Given the description of an element on the screen output the (x, y) to click on. 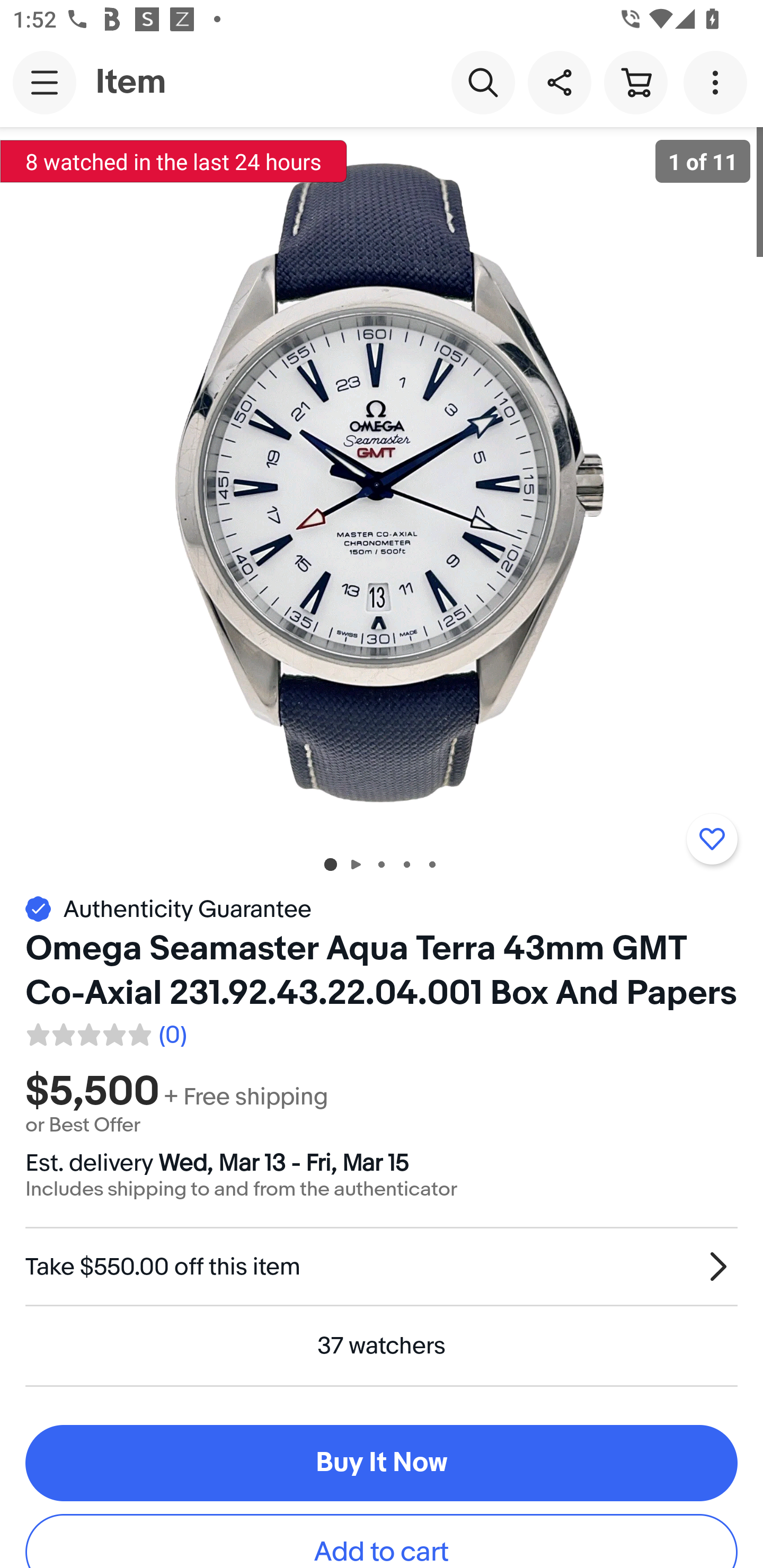
Main navigation, open (44, 82)
Search (482, 81)
Share this item (559, 81)
Cart button shopping cart (635, 81)
More options (718, 81)
Item image 1 of 11 (381, 482)
8 watched in the last 24 hours (173, 161)
Add to watchlist (711, 838)
0 reviews. Average rating 0.0 out of five 0.0 (0) (105, 1031)
Buy It Now (381, 1462)
Add to cart (381, 1541)
